Given the description of an element on the screen output the (x, y) to click on. 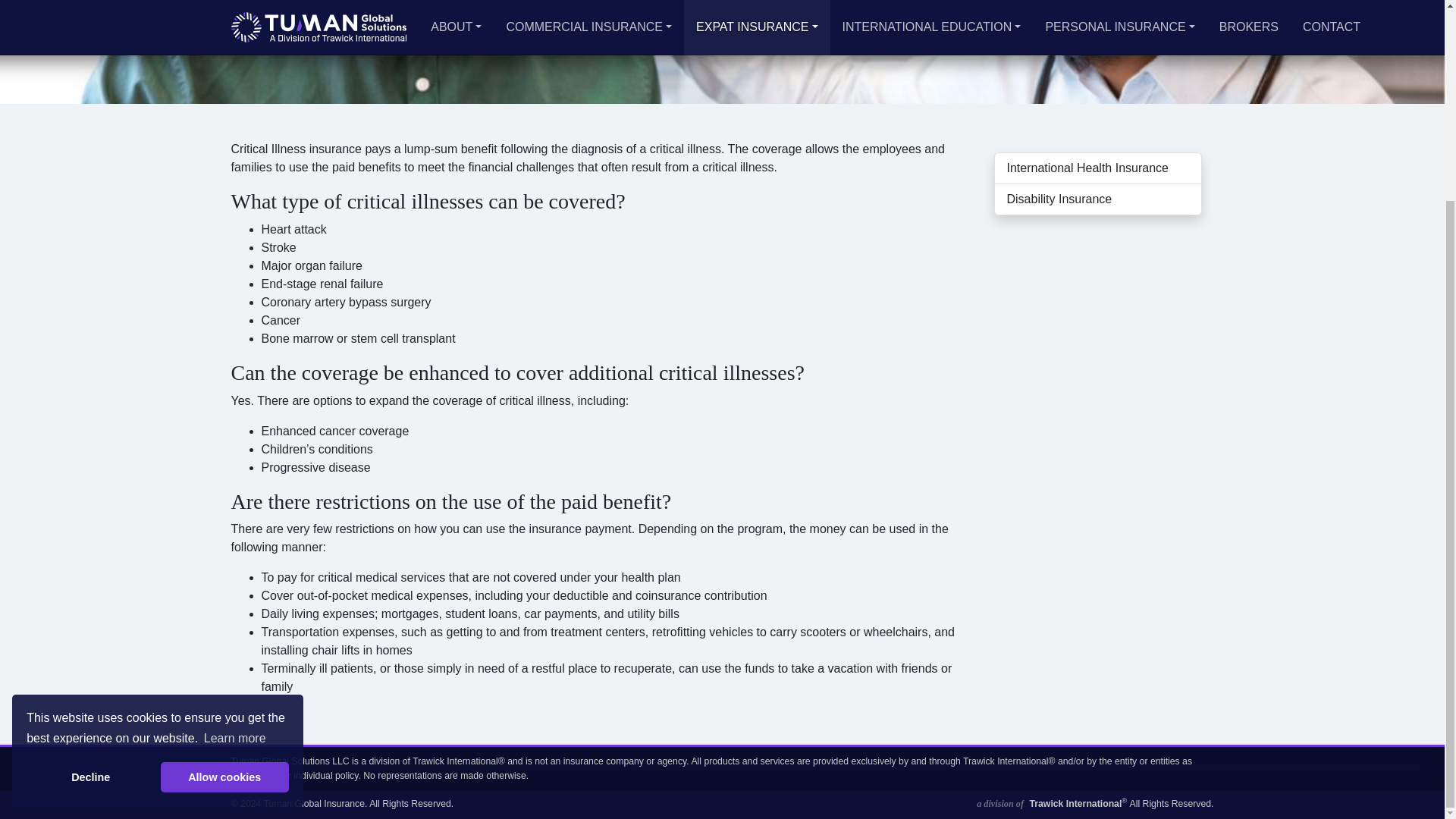
Disability Insurance (1096, 199)
Allow cookies (224, 521)
International Health Insurance (1096, 168)
Decline (90, 521)
Learn more (234, 482)
